Given the description of an element on the screen output the (x, y) to click on. 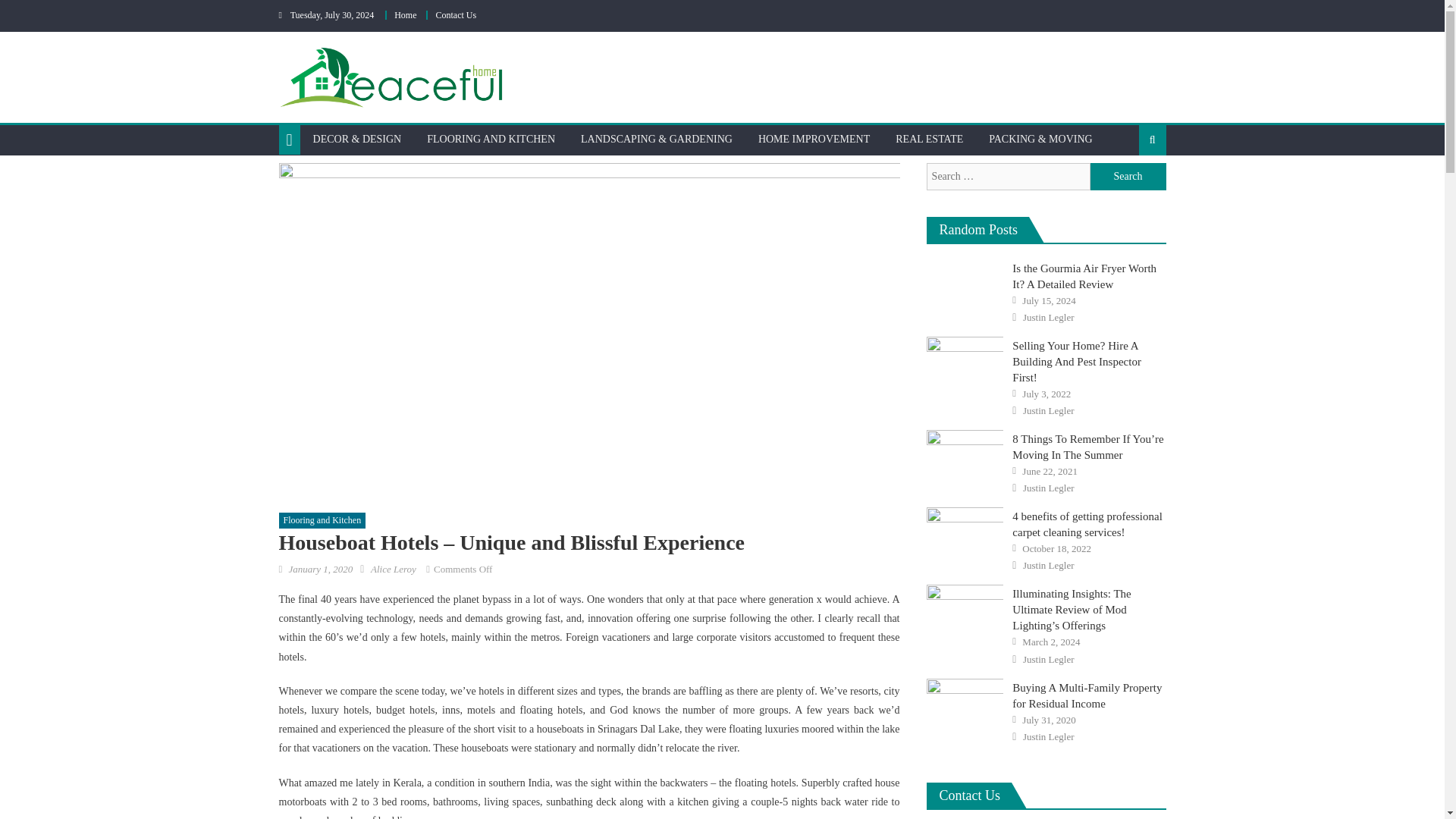
Is the Gourmia Air Fryer Worth It? A Detailed Review (1083, 276)
Home (405, 14)
FLOORING AND KITCHEN (490, 139)
Search (1128, 176)
Search (1128, 176)
Contact Us (455, 14)
Selling Your Home? Hire A Building And Pest Inspector First! (964, 363)
Alice Leroy (393, 568)
Search (1128, 188)
HOME IMPROVEMENT (813, 139)
Buying A Multi-Family Property for Residual Income (964, 705)
Search (1128, 176)
REAL ESTATE (928, 139)
January 1, 2020 (320, 568)
4 benefits of getting professional carpet cleaning services! (964, 533)
